Given the description of an element on the screen output the (x, y) to click on. 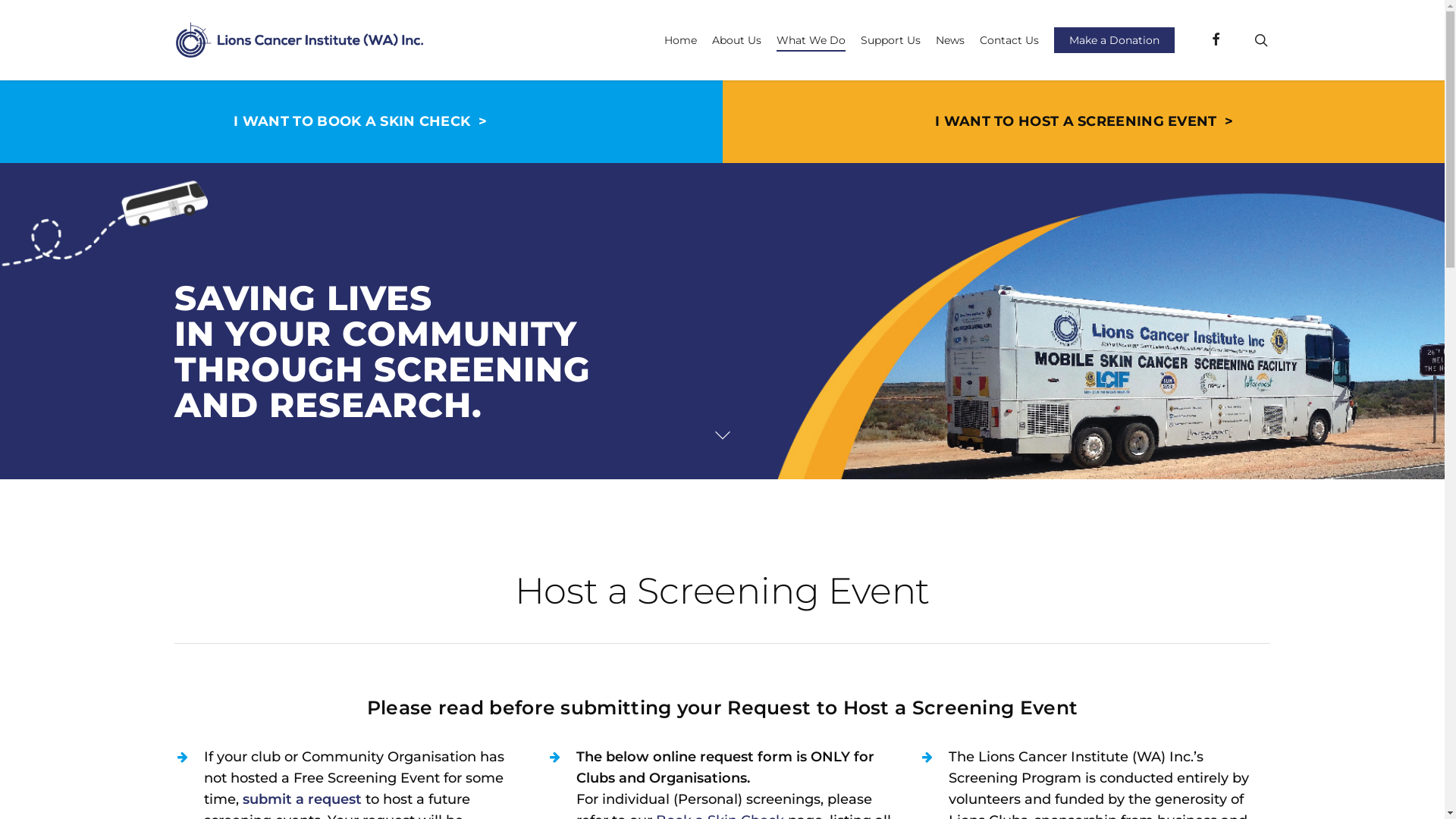
News Element type: text (949, 39)
Contact Us Element type: text (1008, 39)
What We Do Element type: text (810, 39)
Support Us Element type: text (890, 39)
I want to host a screening event Element type: text (1083, 121)
About Us Element type: text (736, 39)
Make a Donation Element type: text (1114, 39)
facebook Element type: text (1215, 39)
submit a request Element type: text (301, 798)
search Element type: text (1261, 39)
Home Element type: text (680, 39)
